Given the description of an element on the screen output the (x, y) to click on. 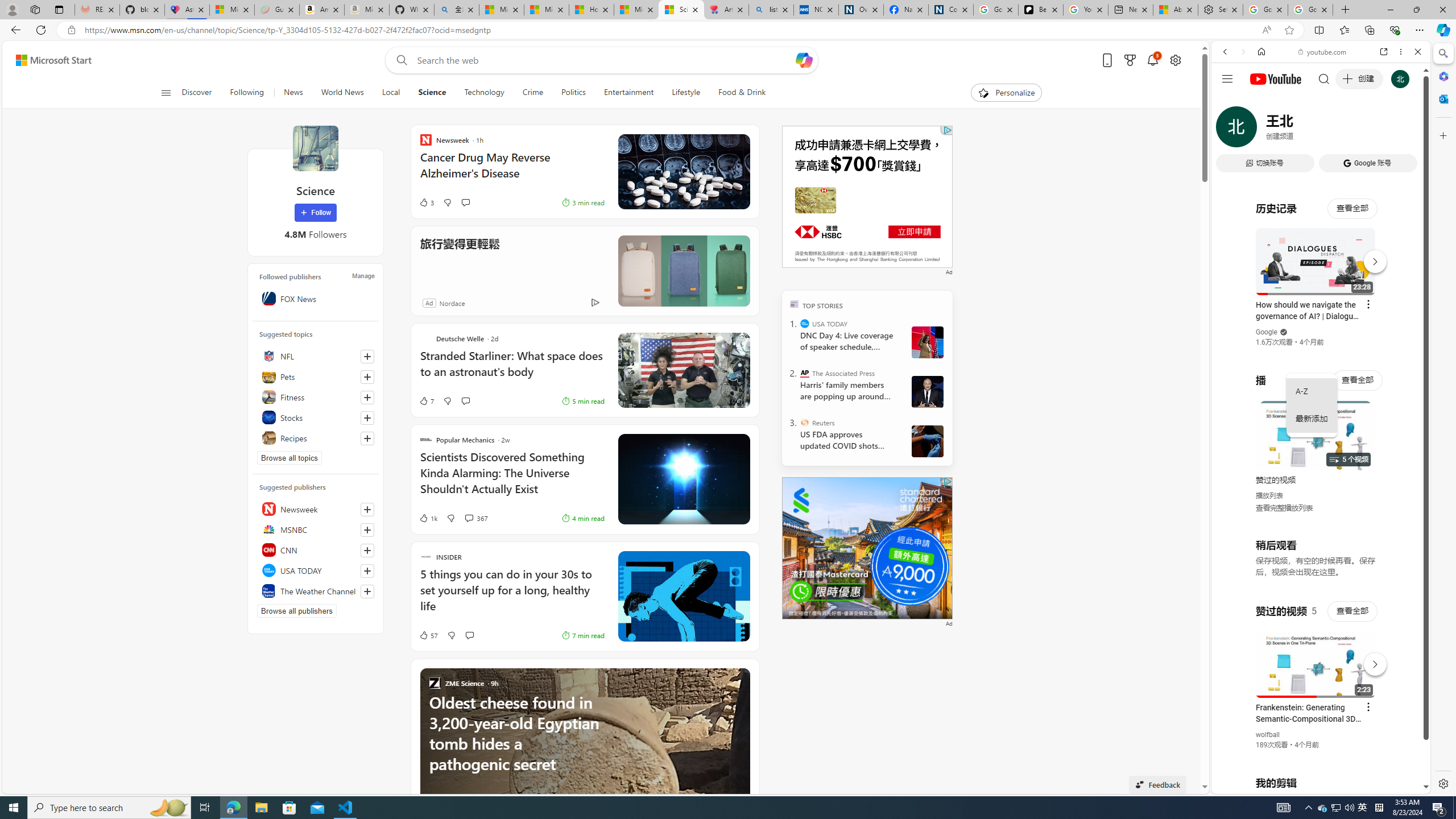
AutomationID: canvas (866, 196)
Search videos from youtube.com (1299, 373)
The Weather Channel (315, 590)
Manage (362, 275)
Pets (315, 376)
wolfball (1268, 734)
Science (431, 92)
Science (432, 92)
